Given the description of an element on the screen output the (x, y) to click on. 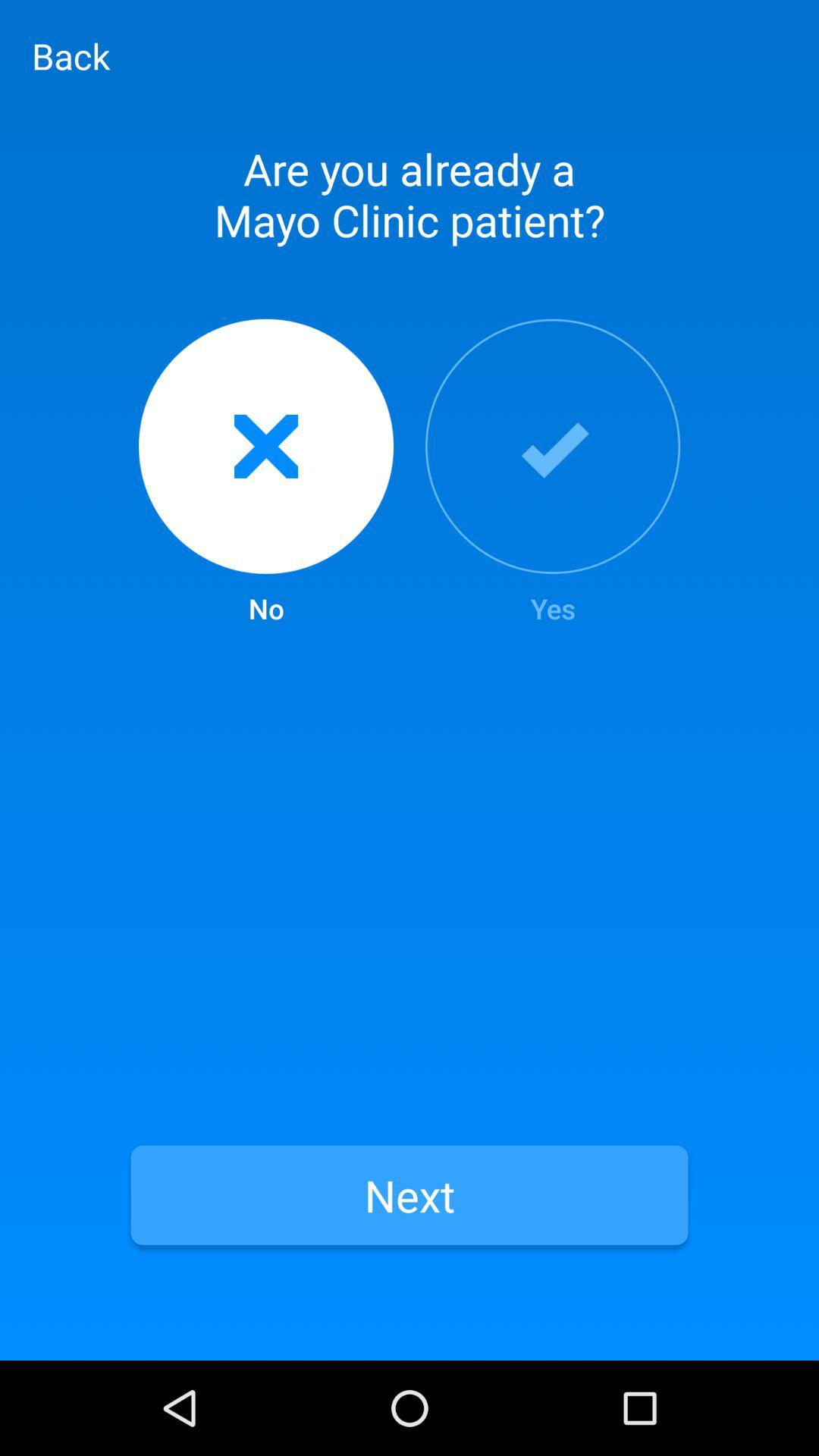
press item next to the yes (265, 473)
